Given the description of an element on the screen output the (x, y) to click on. 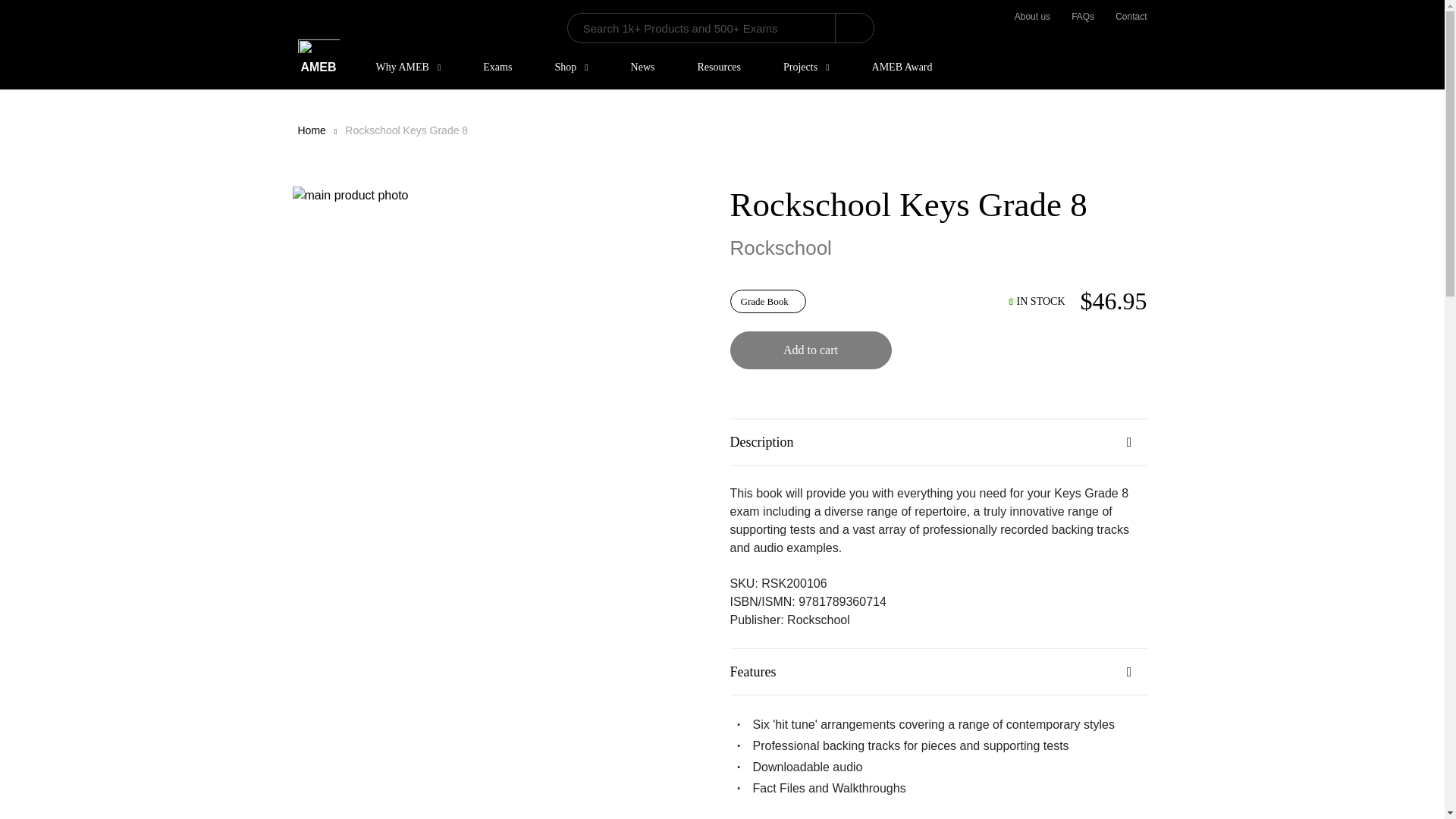
About us (1031, 16)
Add to cart (810, 350)
Search (854, 28)
Shop (570, 67)
Availability (1036, 301)
Why AMEB (409, 67)
Search (854, 28)
FAQs (1082, 16)
Exams (496, 67)
Go to Home Page (310, 130)
